Given the description of an element on the screen output the (x, y) to click on. 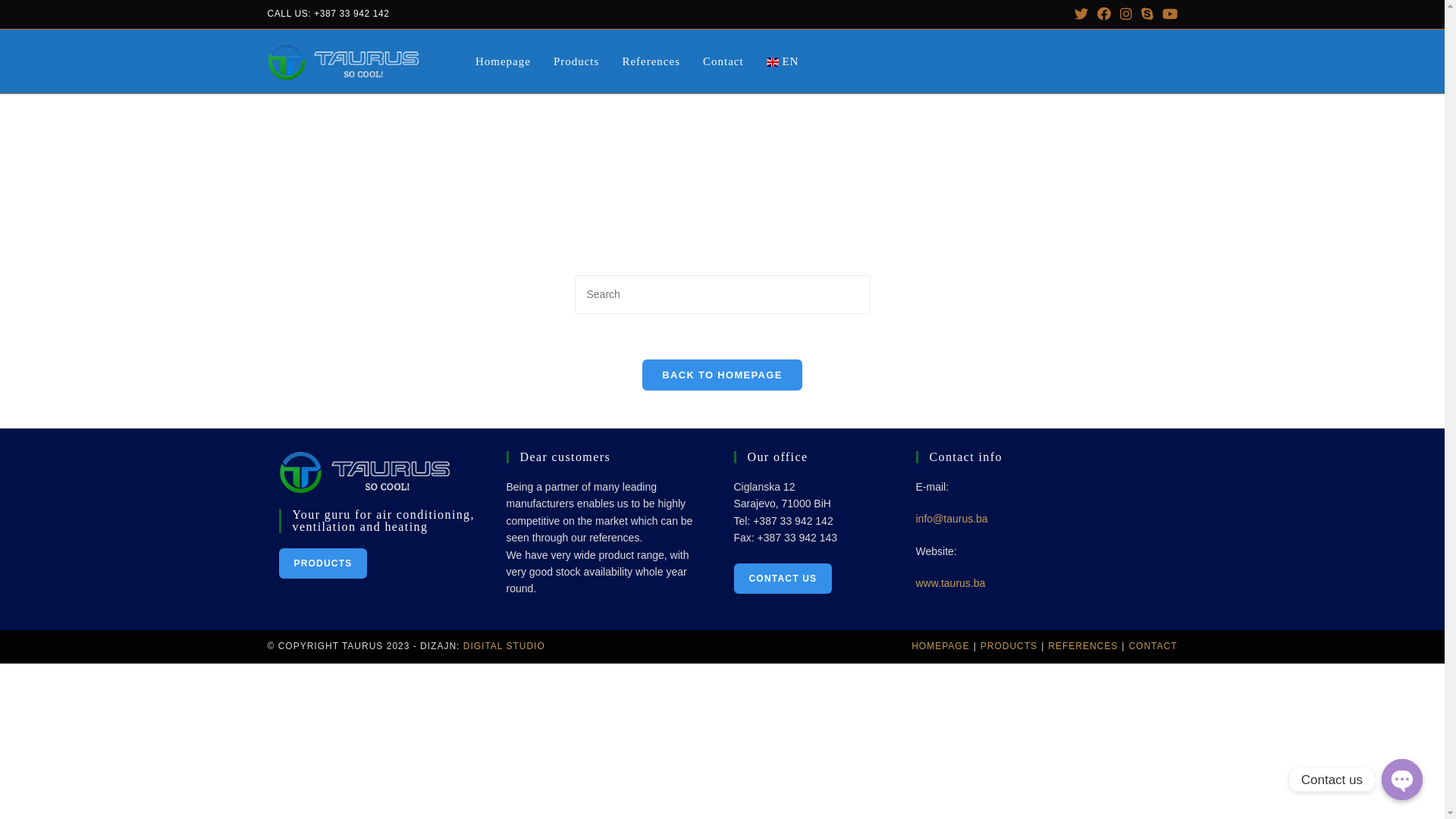
PRODUCTS Element type: text (323, 563)
EN Element type: text (782, 61)
BACK TO HOMEPAGE Element type: text (721, 374)
CONTACT US Element type: text (783, 578)
References Element type: text (650, 61)
Homepage Element type: text (503, 61)
DIGITAL STUDIO Element type: text (504, 645)
www.taurus.ba Element type: text (950, 583)
HOMEPAGE Element type: text (940, 645)
info@taurus.ba Element type: text (952, 518)
Contact Element type: text (723, 61)
Products Element type: text (576, 61)
CONTACT Element type: text (1152, 645)
REFERENCES Element type: text (1082, 645)
PRODUCTS Element type: text (1008, 645)
